Given the description of an element on the screen output the (x, y) to click on. 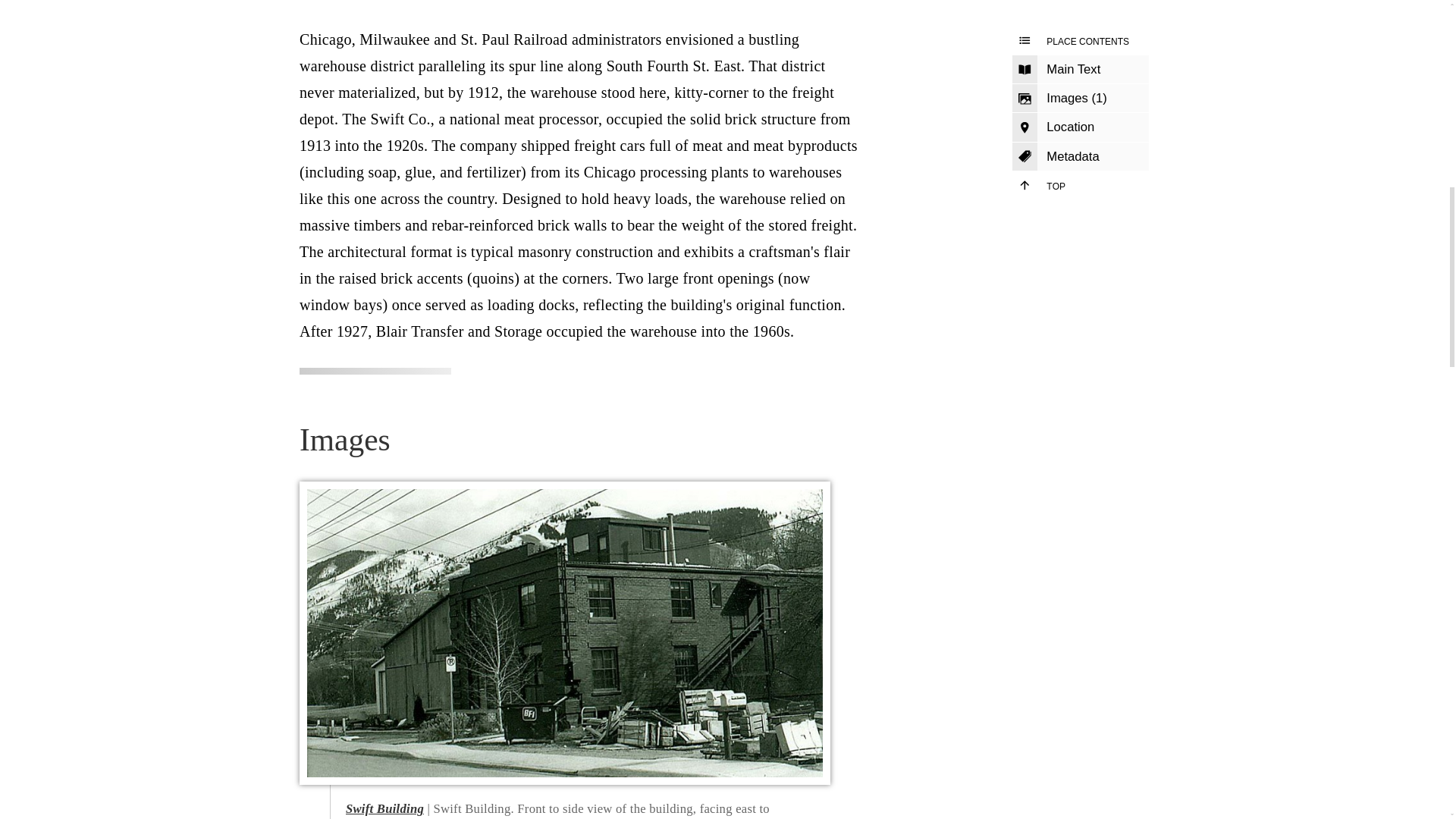
Main Text (1079, 69)
Place Contents (1079, 40)
Skip to Images (1079, 98)
Location (1079, 127)
Skip to Metadata (1079, 156)
Top (1079, 185)
Metadata (1079, 156)
Skip to Map Location (1079, 127)
Skip to Main Text (1079, 69)
Swift Building (384, 808)
